Given the description of an element on the screen output the (x, y) to click on. 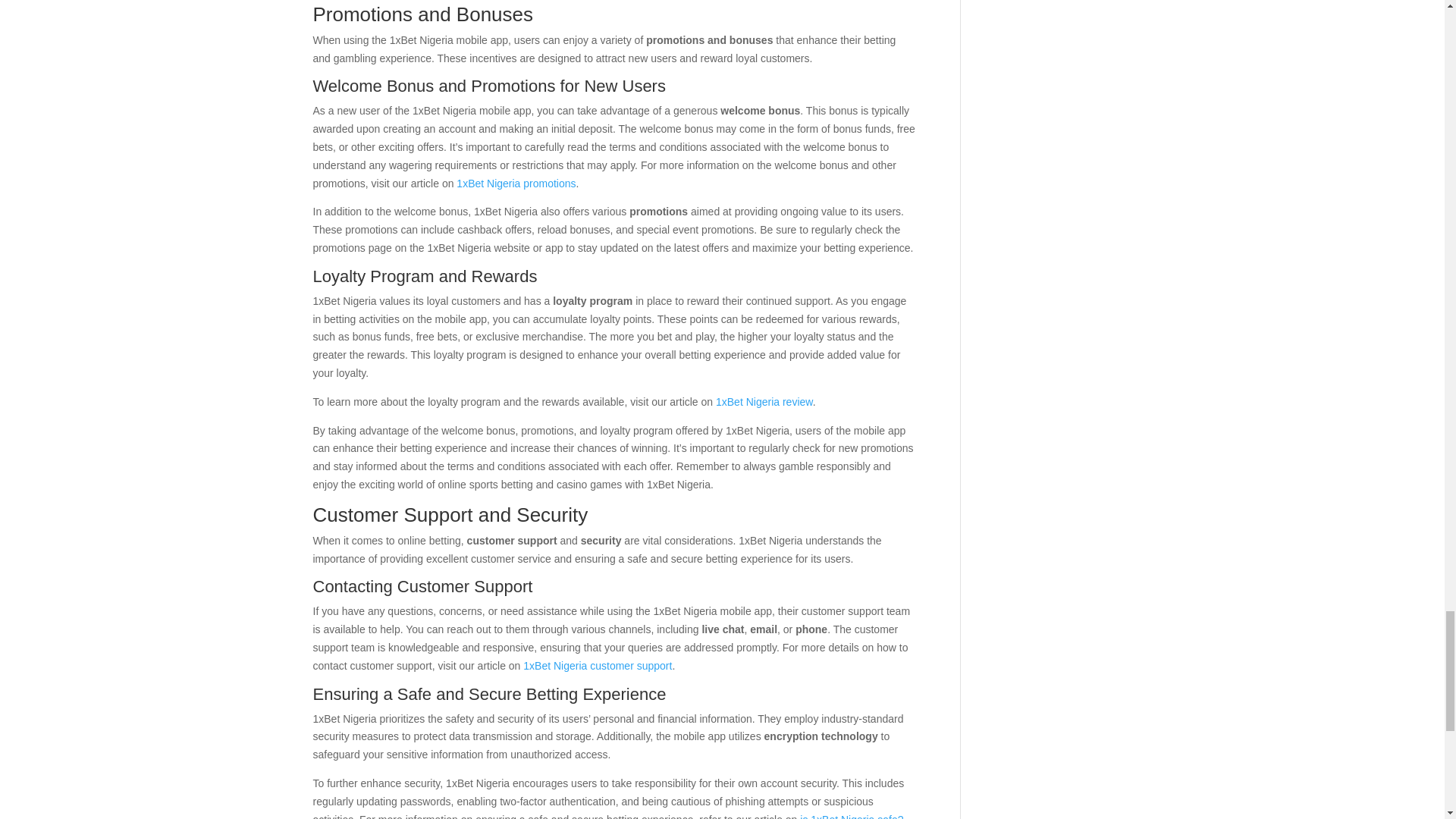
1xBet Nigeria review (764, 401)
1xBet Nigeria customer support (596, 665)
is 1xBet Nigeria safe? (850, 816)
1xBet Nigeria promotions (516, 183)
